Given the description of an element on the screen output the (x, y) to click on. 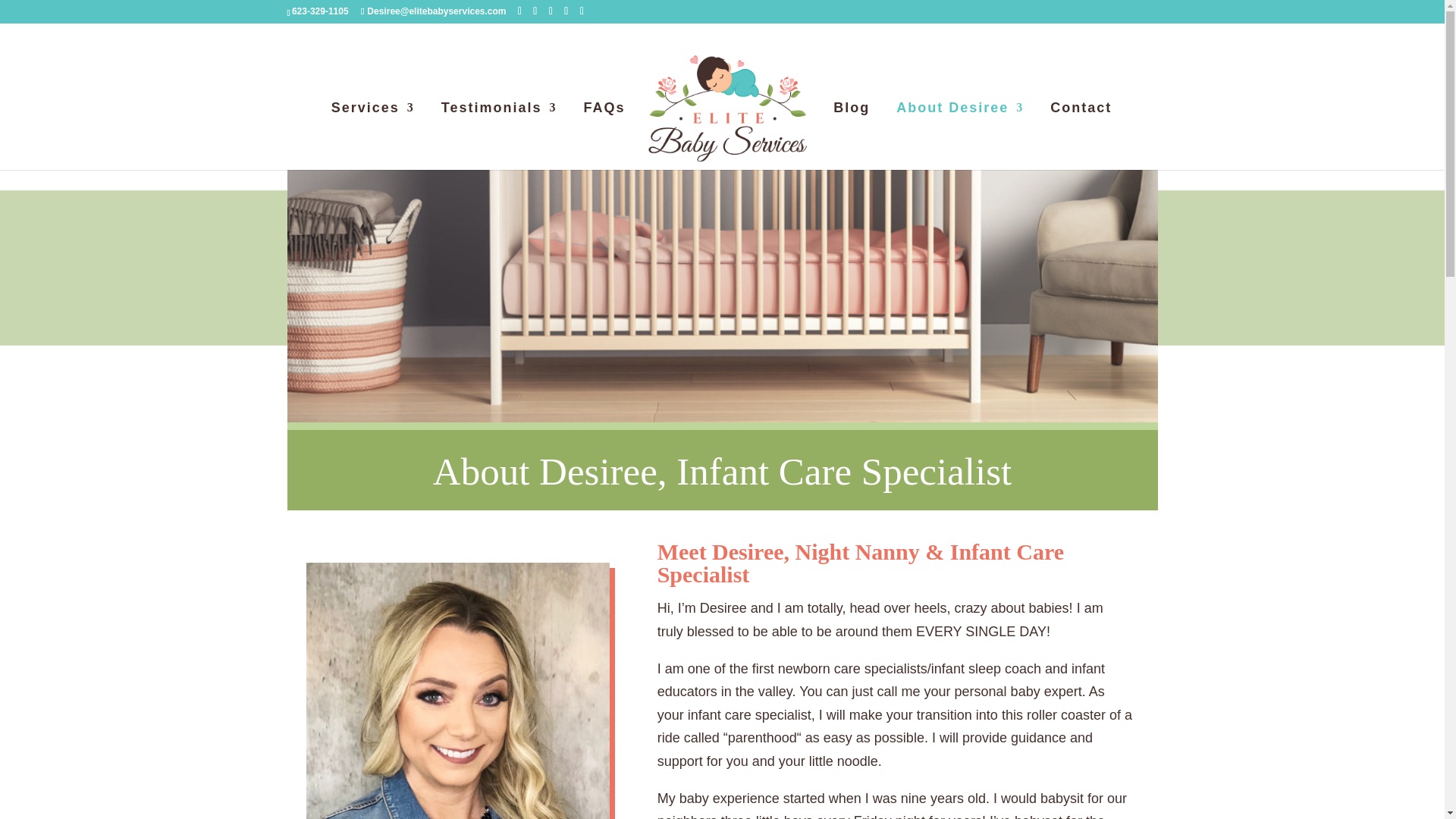
Testimonials (499, 135)
623-329-1105 (320, 10)
Services (372, 135)
Contact (1080, 135)
About Desiree (959, 135)
